Given the description of an element on the screen output the (x, y) to click on. 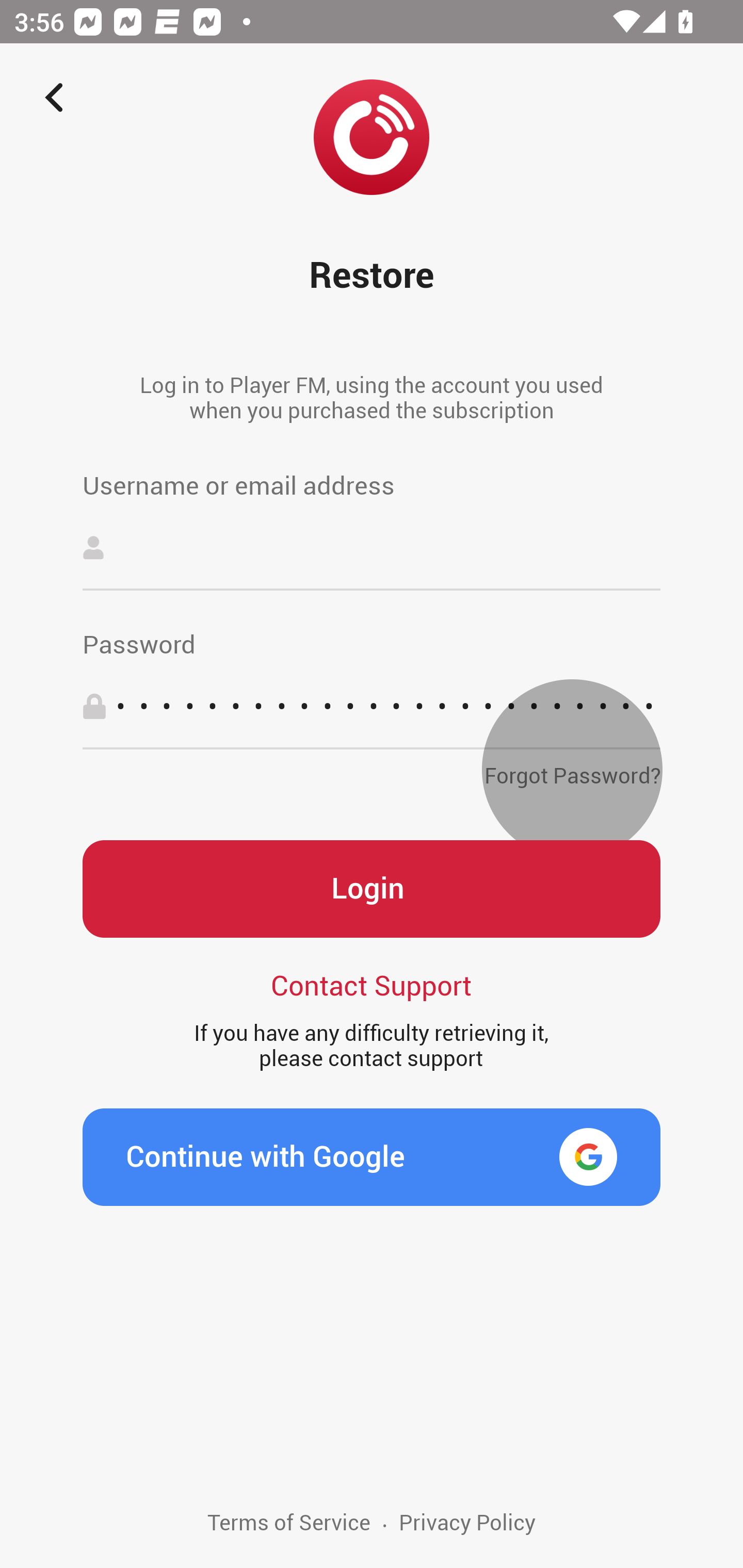
•••••••••••••••••••••••••••••••••••••••••••••••• (371, 706)
Forgot Password? (571, 769)
Login (371, 888)
Contact Support (371, 984)
Continue with Google (371, 1156)
Terms of Service (288, 1538)
Privacy Policy (466, 1538)
